Given the description of an element on the screen output the (x, y) to click on. 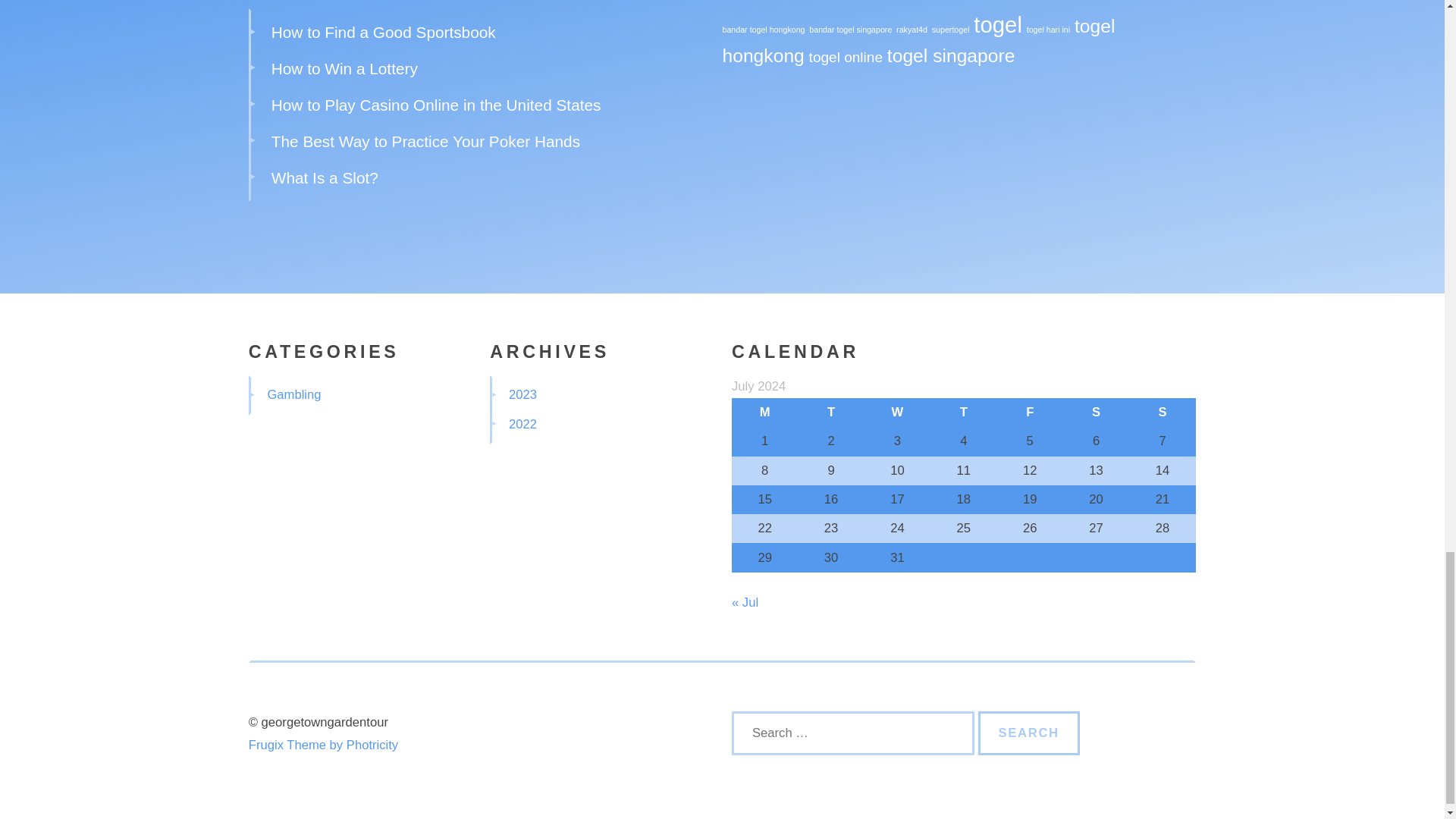
Monday (764, 412)
supertogel (950, 29)
How to Find a Good Sportsbook (383, 31)
Search (1029, 733)
Wednesday (897, 412)
How to Play Casino Online in the United States (435, 104)
2023 (522, 394)
bandar togel hongkong (763, 29)
togel (998, 24)
togel online (845, 57)
togel hari ini (1048, 29)
Friday (1029, 412)
What Is a Slot? (324, 177)
togel hongkong (918, 40)
Sunday (1162, 412)
